Given the description of an element on the screen output the (x, y) to click on. 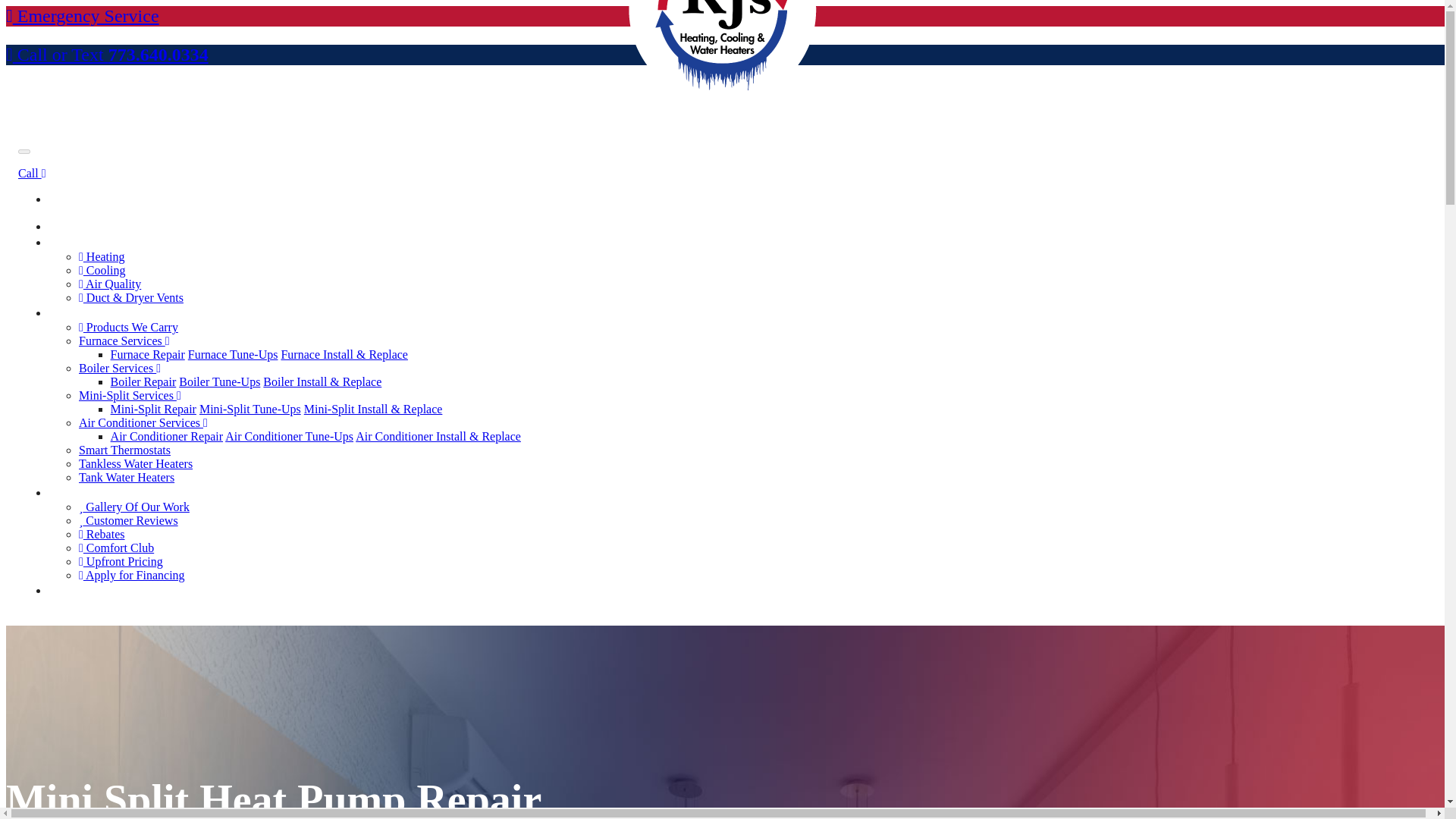
Tankless Water Heaters (135, 463)
Resources (85, 491)
Air Conditioner Repair (166, 436)
Air conditioner repair in Barrington, IL (166, 436)
Furnace Replacement and New Installation in Barrington, IL (344, 354)
Mini-Split Tune-Ups (250, 408)
Mini-Split Repair (153, 408)
Boiler Services (119, 367)
Emergency Service (81, 15)
Rebates (101, 533)
Gallery Of Our Work (133, 506)
Air Quality (109, 283)
